Given the description of an element on the screen output the (x, y) to click on. 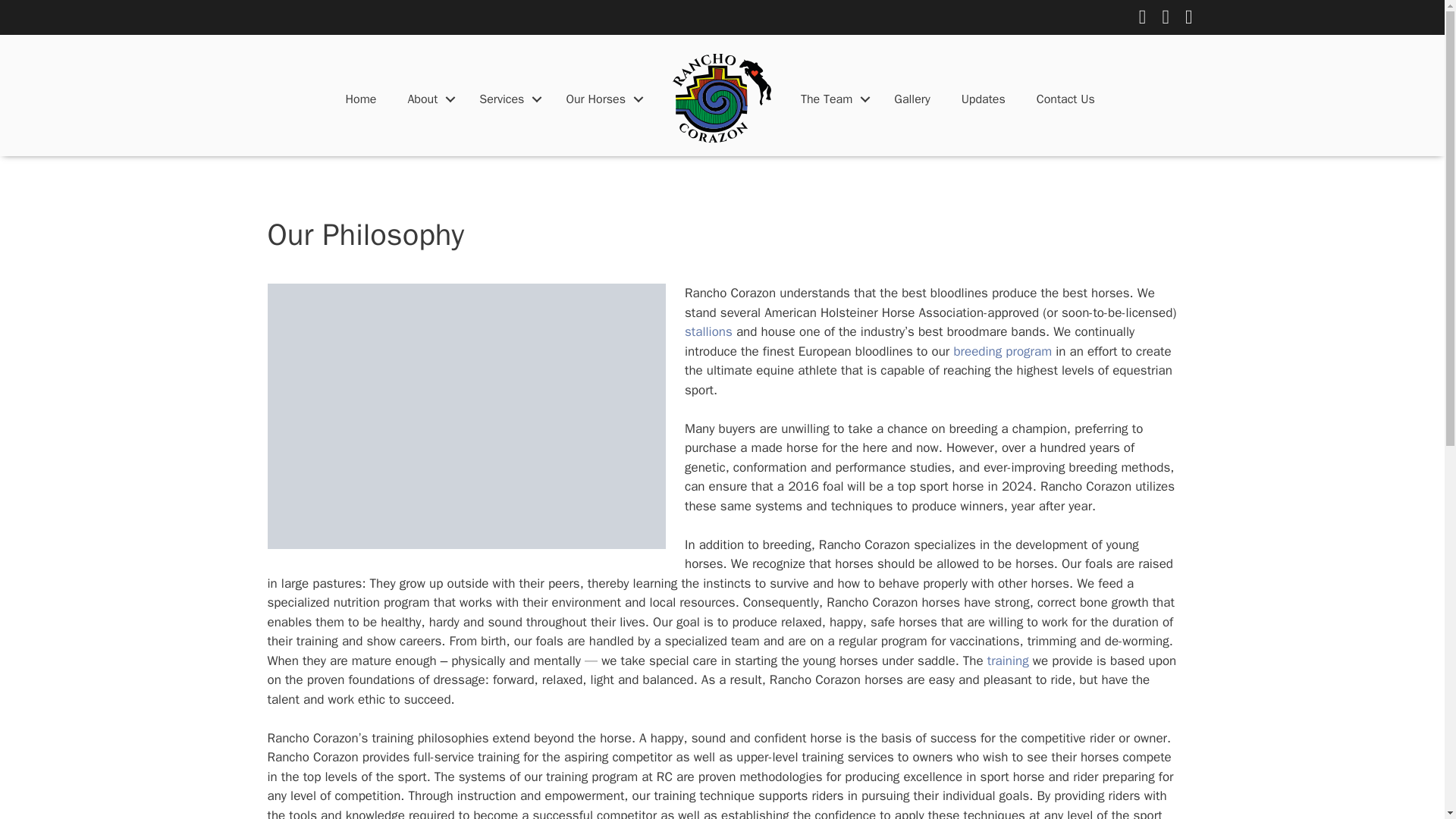
Rancho Corazon (721, 98)
The Team (831, 99)
Gallery (911, 99)
Our Horses (600, 99)
Contact Us (1065, 99)
Home (360, 99)
Updates (983, 99)
About (427, 99)
Services (507, 99)
